Given the description of an element on the screen output the (x, y) to click on. 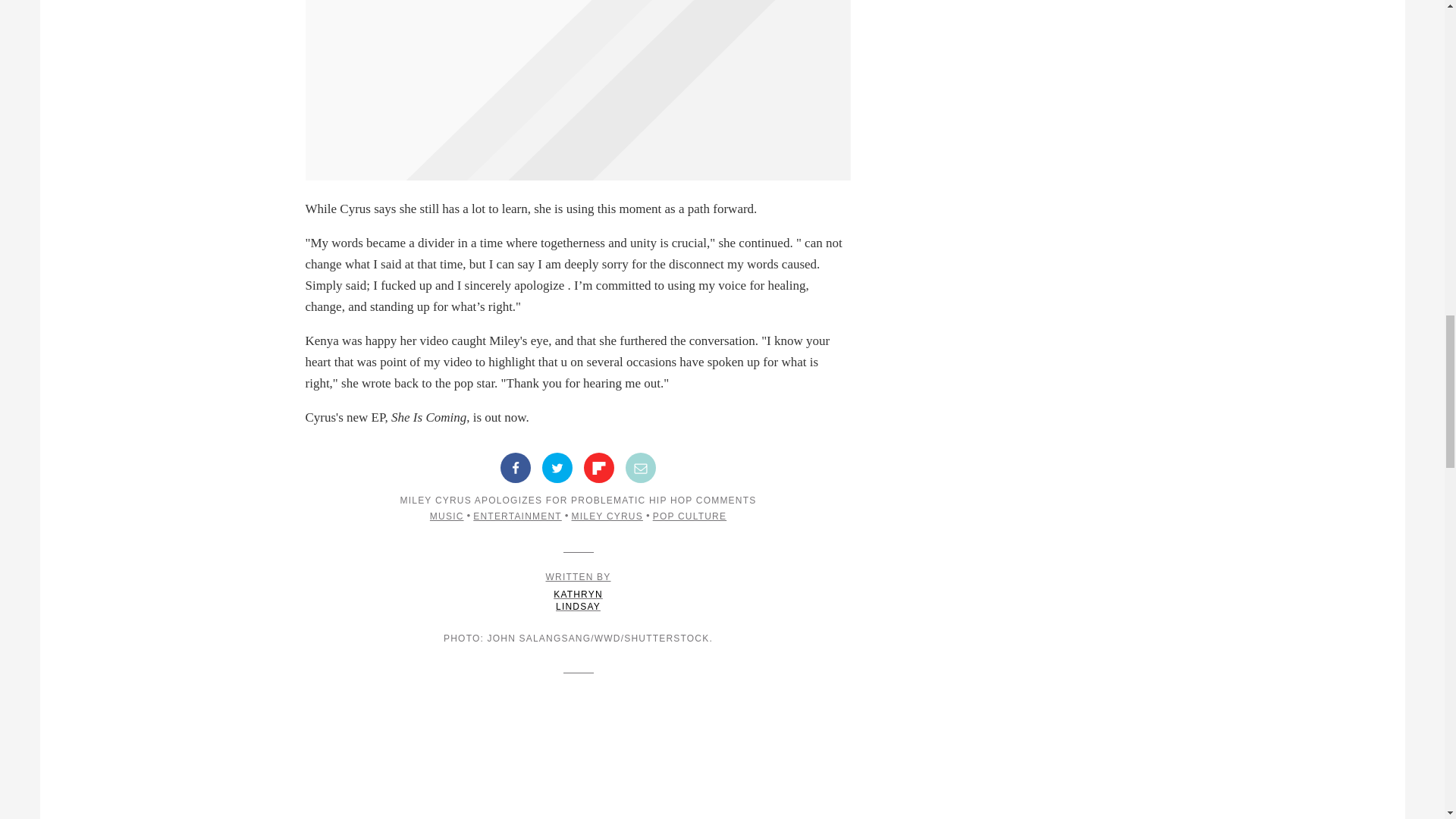
Share by Email (641, 467)
POP CULTURE (689, 516)
MILEY CYRUS (607, 516)
ENTERTAINMENT (577, 592)
Share on Flipboard (517, 516)
MUSIC (598, 467)
Share on Twitter (446, 516)
